Given the description of an element on the screen output the (x, y) to click on. 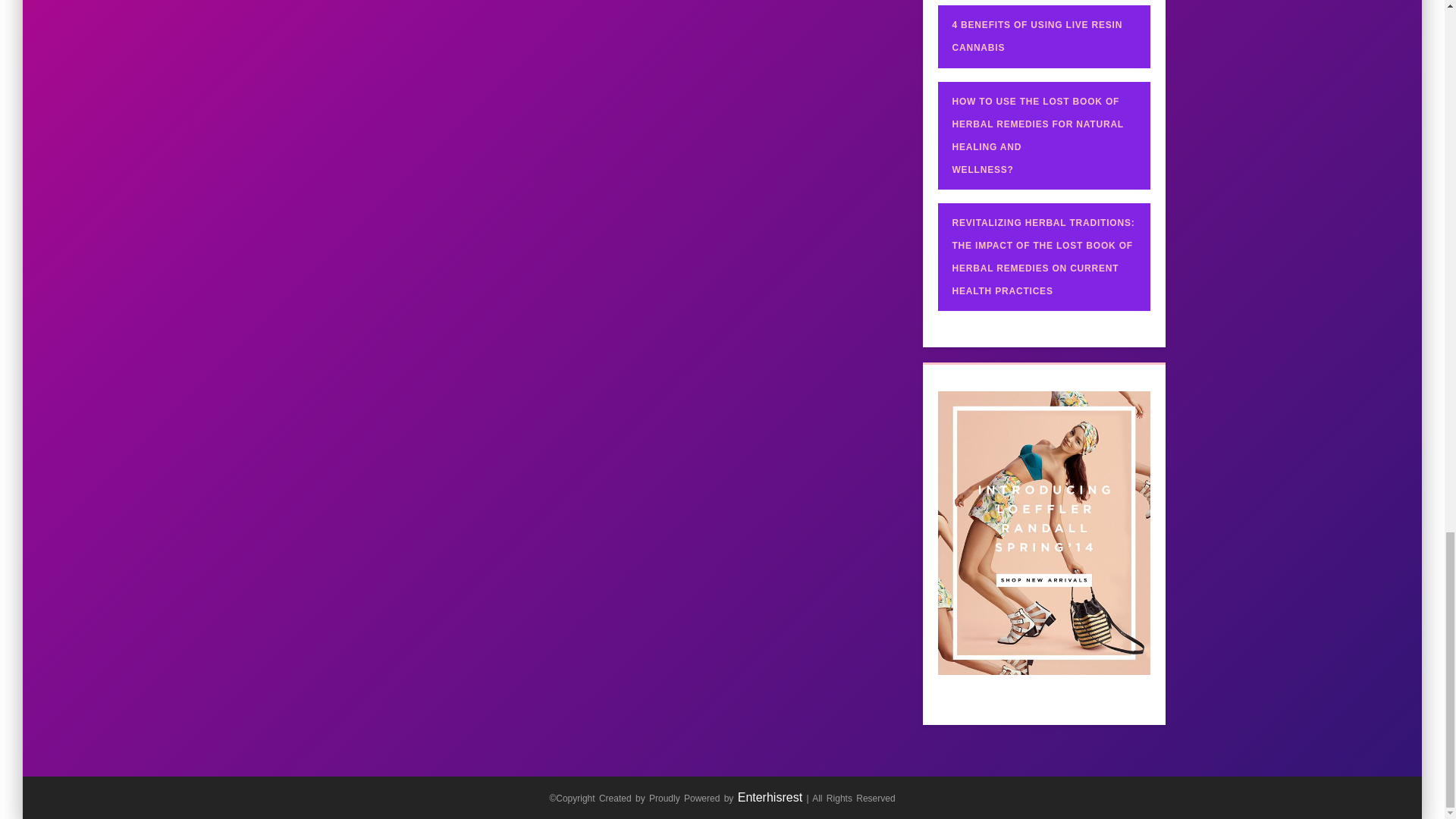
4 BENEFITS OF USING LIVE RESIN CANNABIS (1037, 36)
